Given the description of an element on the screen output the (x, y) to click on. 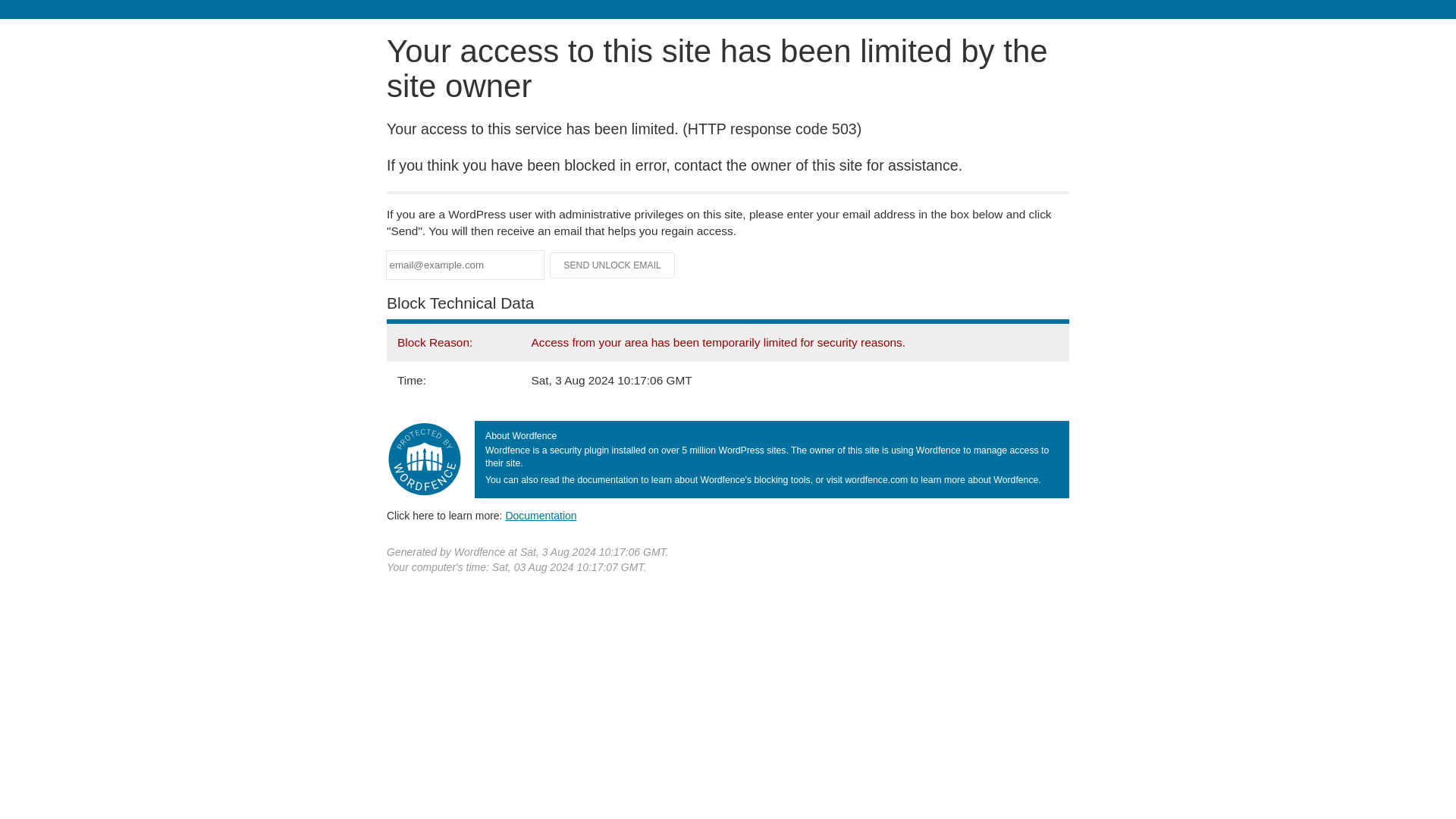
Documentation (540, 515)
Send Unlock Email (612, 265)
Send Unlock Email (612, 265)
